Given the description of an element on the screen output the (x, y) to click on. 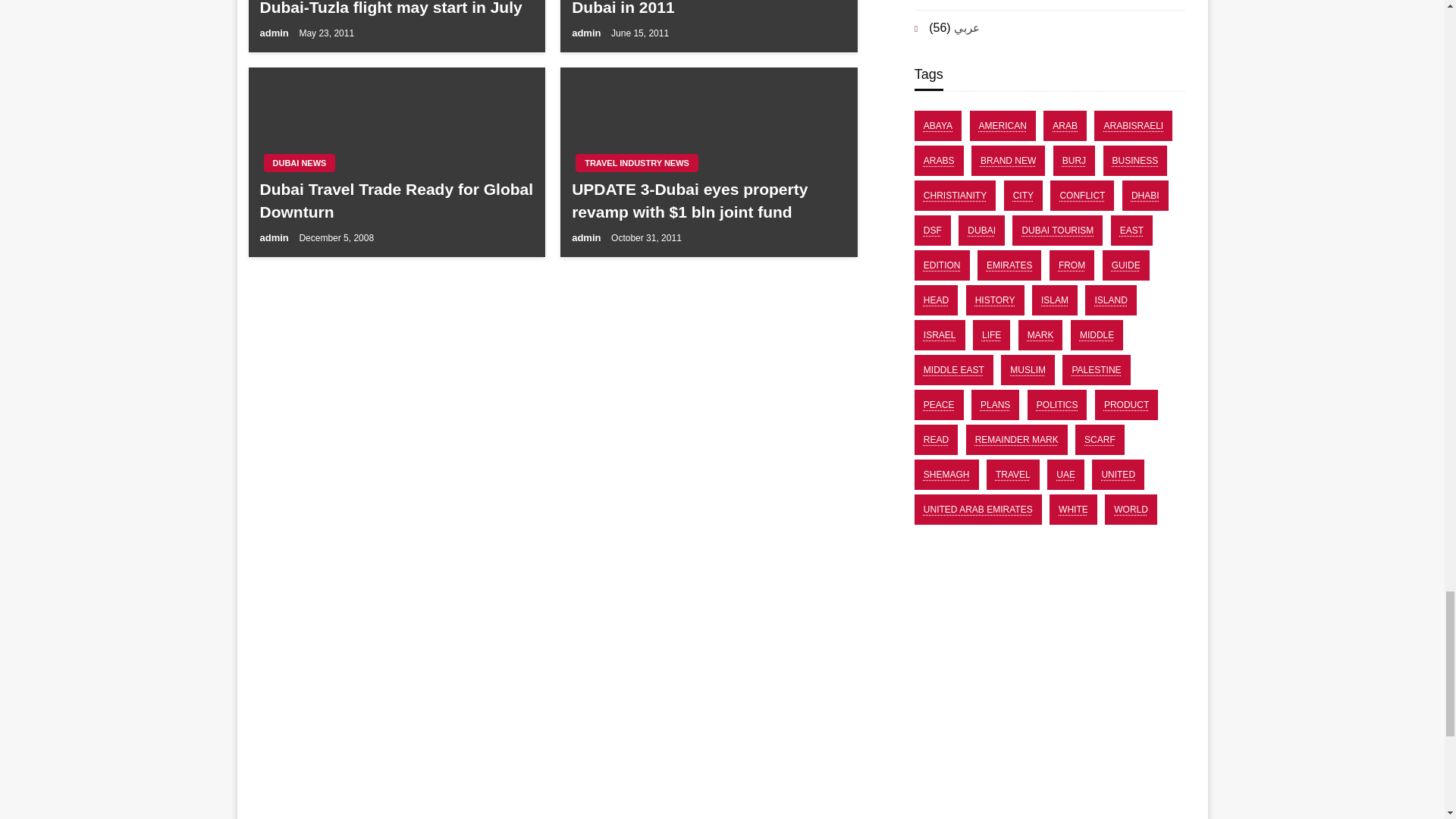
Dubai-Tuzla flight may start in July (396, 9)
admin (275, 32)
DUBAI NEWS (299, 162)
Dubai Travel Trade Ready for Global Downturn (396, 200)
admin (275, 237)
admin (588, 237)
admin (588, 32)
TRAVEL INDUSTRY NEWS (636, 162)
Less British tourists heading to Dubai in 2011 (708, 9)
